Given the description of an element on the screen output the (x, y) to click on. 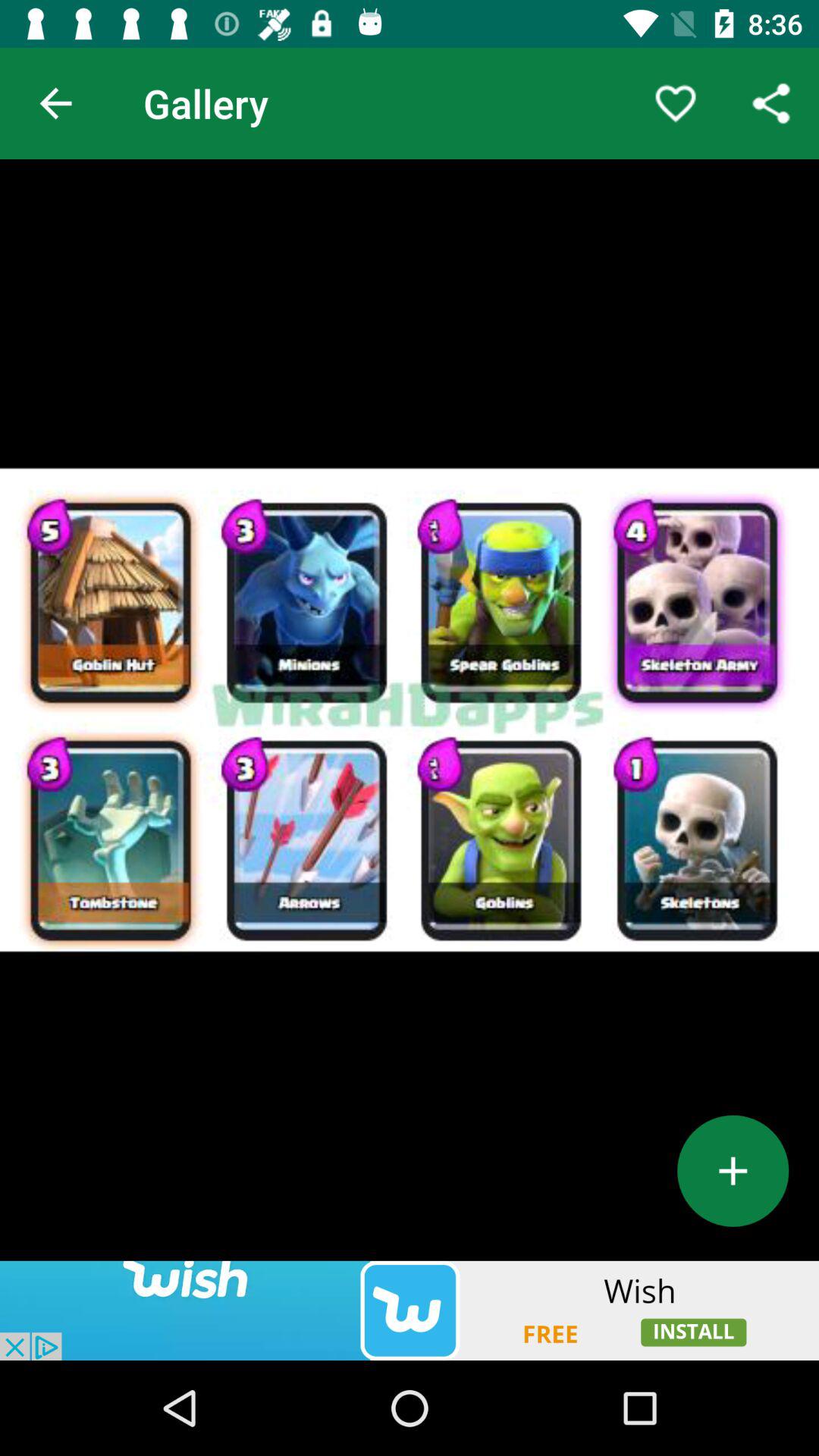
go to website (409, 1310)
